Given the description of an element on the screen output the (x, y) to click on. 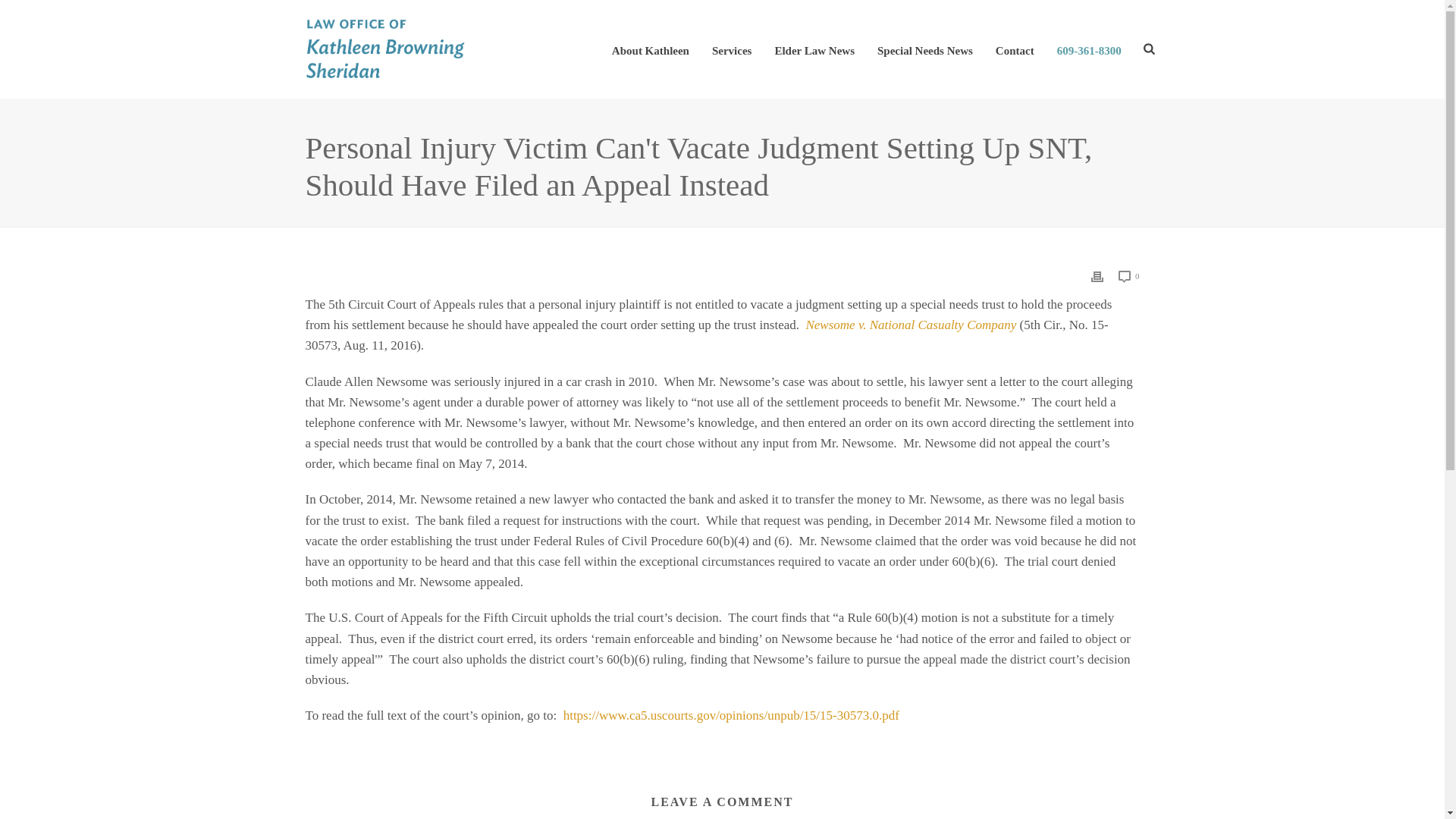
Elder Law News (814, 49)
Elder Law News (814, 49)
Newsome v. National Casualty Company (910, 324)
About Kathleen (649, 49)
Special Needs News (925, 49)
0 (1128, 275)
Special Needs News (925, 49)
Elder Law Firm (385, 49)
About Kathleen (649, 49)
